Given the description of an element on the screen output the (x, y) to click on. 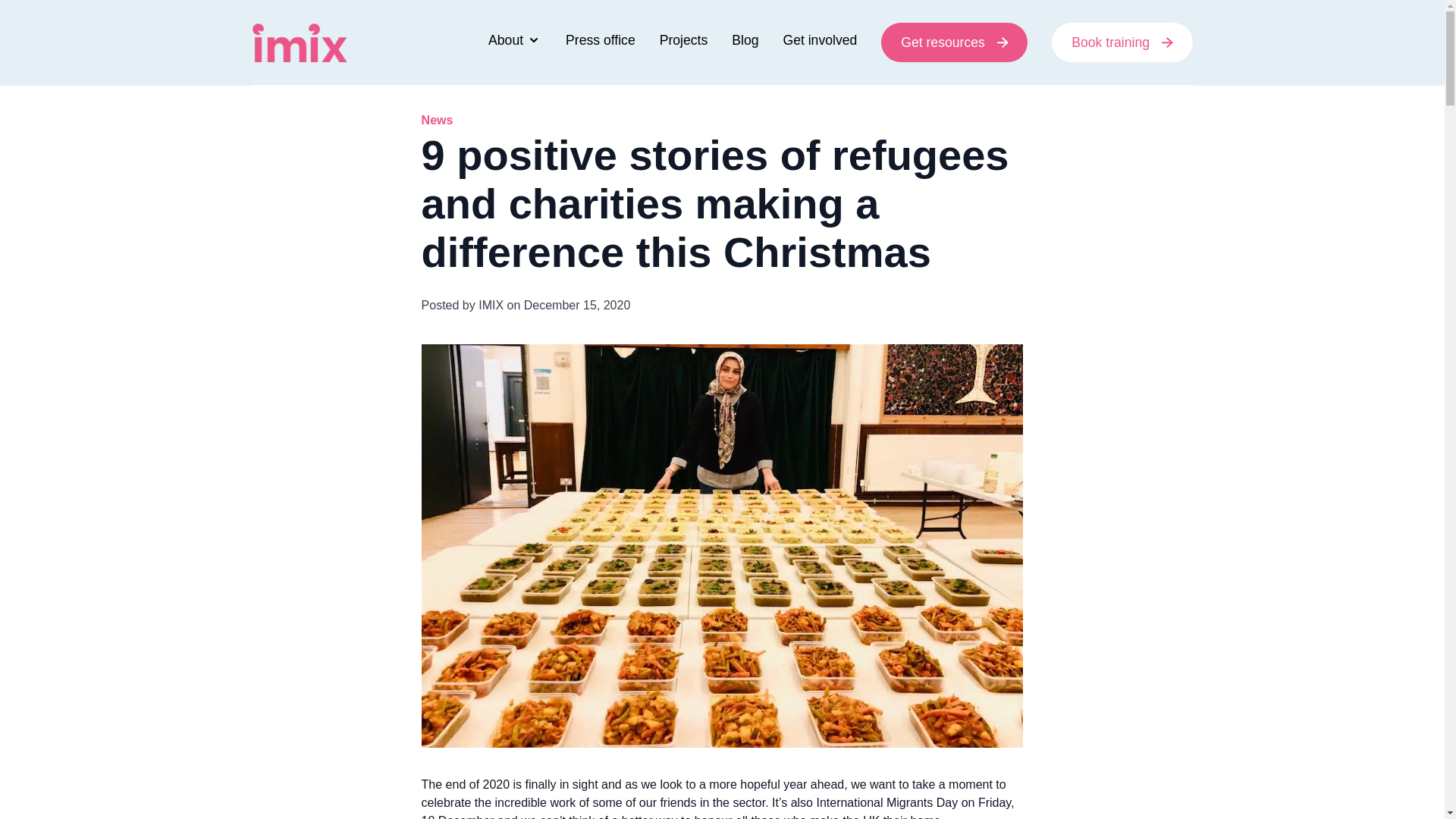
Get involved (820, 42)
Press office (600, 42)
IMIX (298, 41)
About (514, 42)
Projects (683, 42)
News (437, 119)
Book training (1121, 42)
Blog (745, 42)
Get resources (953, 42)
